Given the description of an element on the screen output the (x, y) to click on. 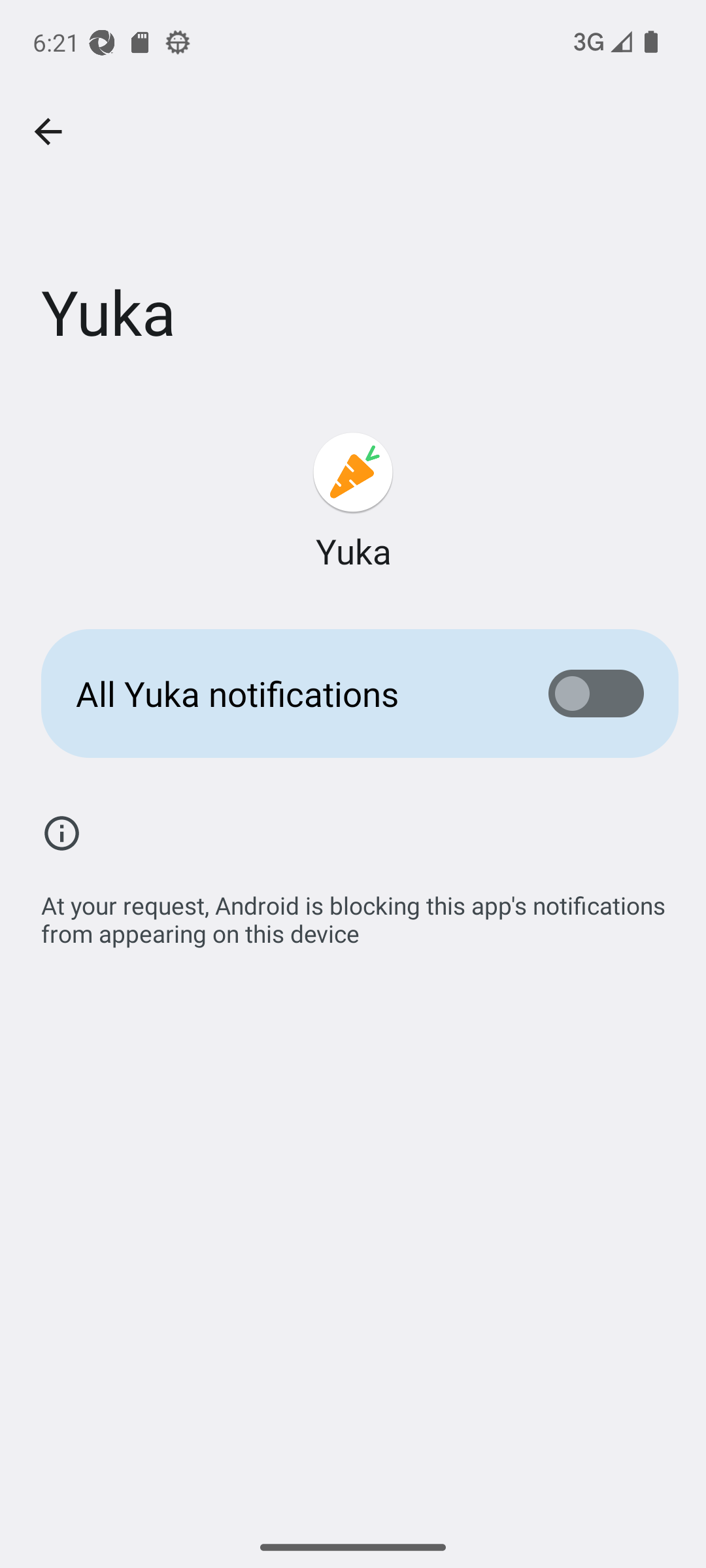
Navigate up (48, 131)
Yuka (352, 502)
All Yuka notifications (353, 693)
